Given the description of an element on the screen output the (x, y) to click on. 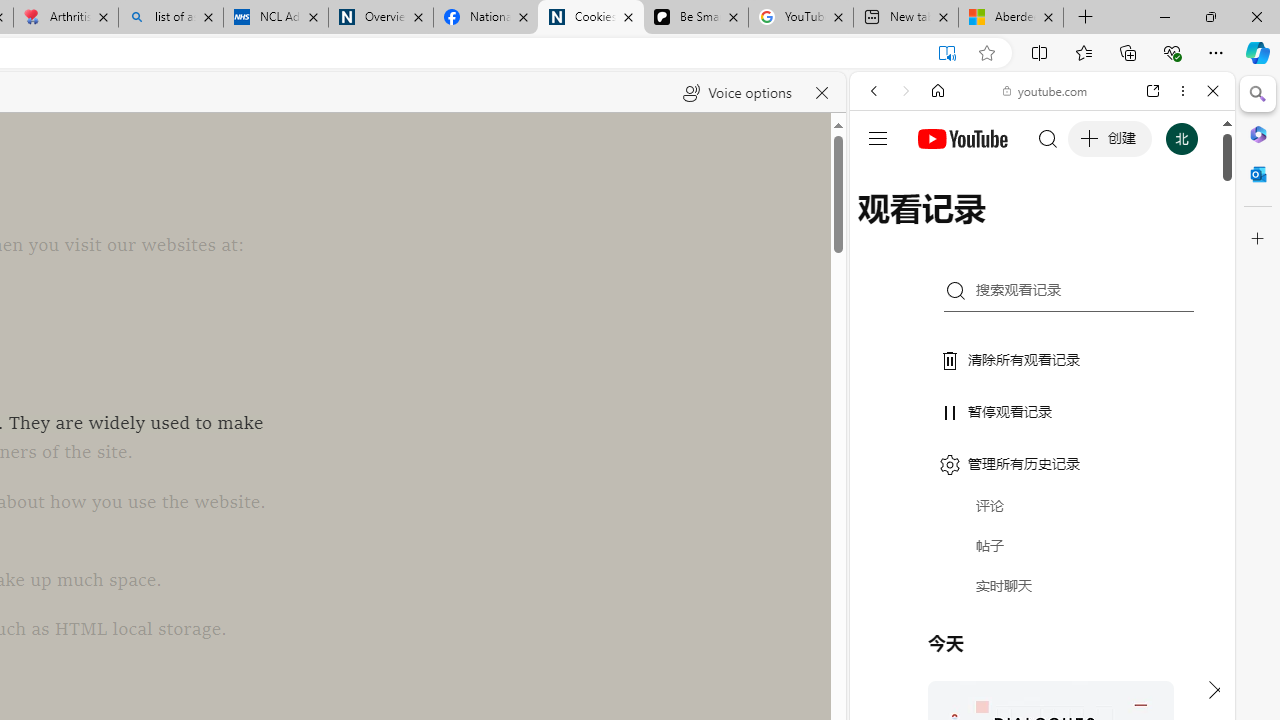
Search the web (1051, 137)
Exit Immersive Reader (F9) (946, 53)
list of asthma inhalers uk - Search (170, 17)
Search Filter, Search Tools (1093, 228)
Class: b_serphb (1190, 229)
YouTube (1034, 296)
Arthritis: Ask Health Professionals (65, 17)
Search Filter, VIDEOS (1006, 228)
